Given the description of an element on the screen output the (x, y) to click on. 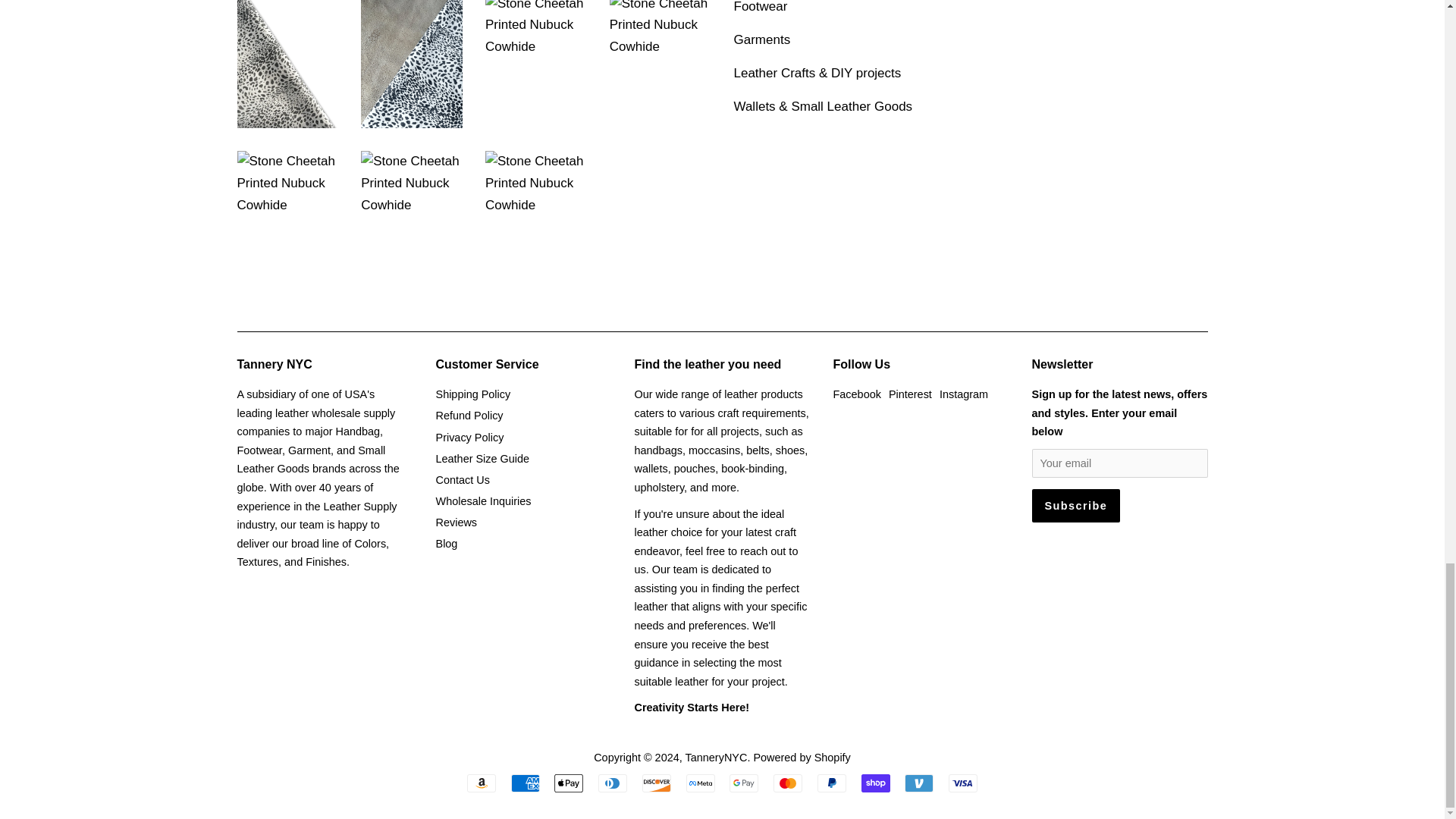
American Express (525, 782)
Venmo (918, 782)
Amazon (481, 782)
Mastercard (787, 782)
Subscribe (1074, 505)
Apple Pay (568, 782)
TanneryNYC on Instagram (963, 394)
Diners Club (612, 782)
Shop Pay (875, 782)
PayPal (830, 782)
Meta Pay (699, 782)
TanneryNYC on Pinterest (909, 394)
Visa (962, 782)
Google Pay (743, 782)
TanneryNYC on Facebook (856, 394)
